Given the description of an element on the screen output the (x, y) to click on. 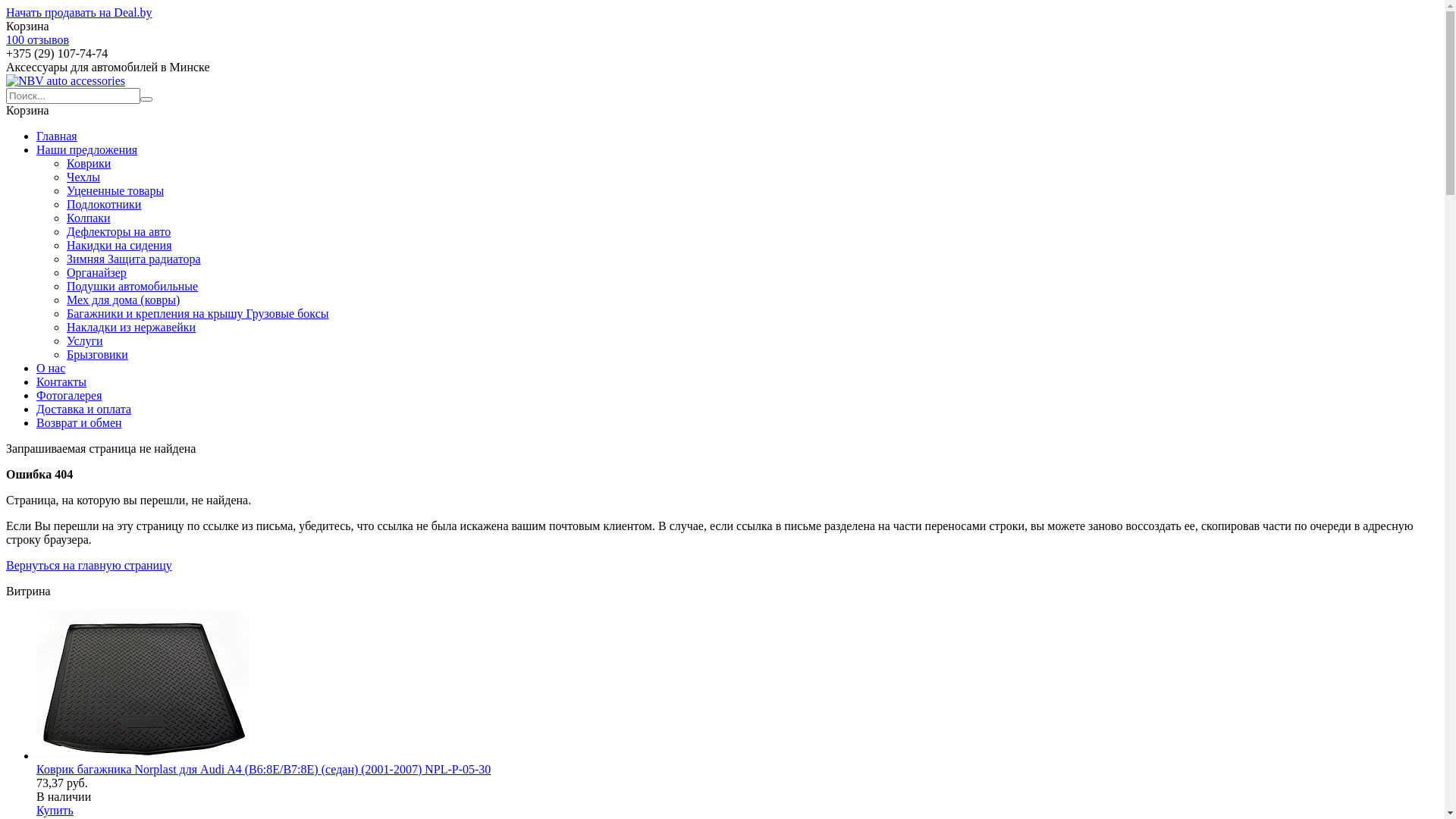
NBV auto accessories Element type: hover (65, 80)
